Given the description of an element on the screen output the (x, y) to click on. 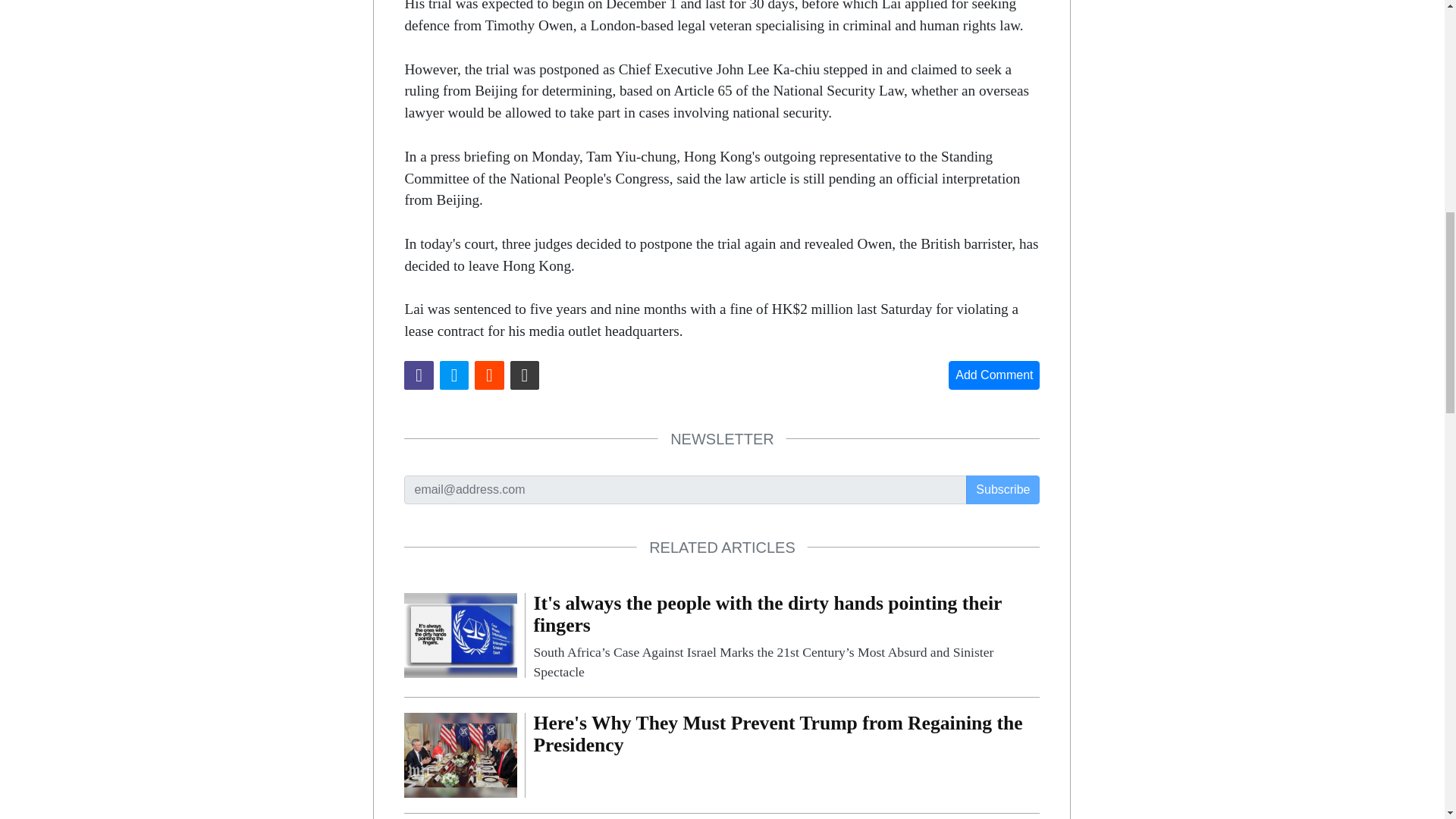
Subscribe (1002, 489)
Add Comment (994, 375)
